Given the description of an element on the screen output the (x, y) to click on. 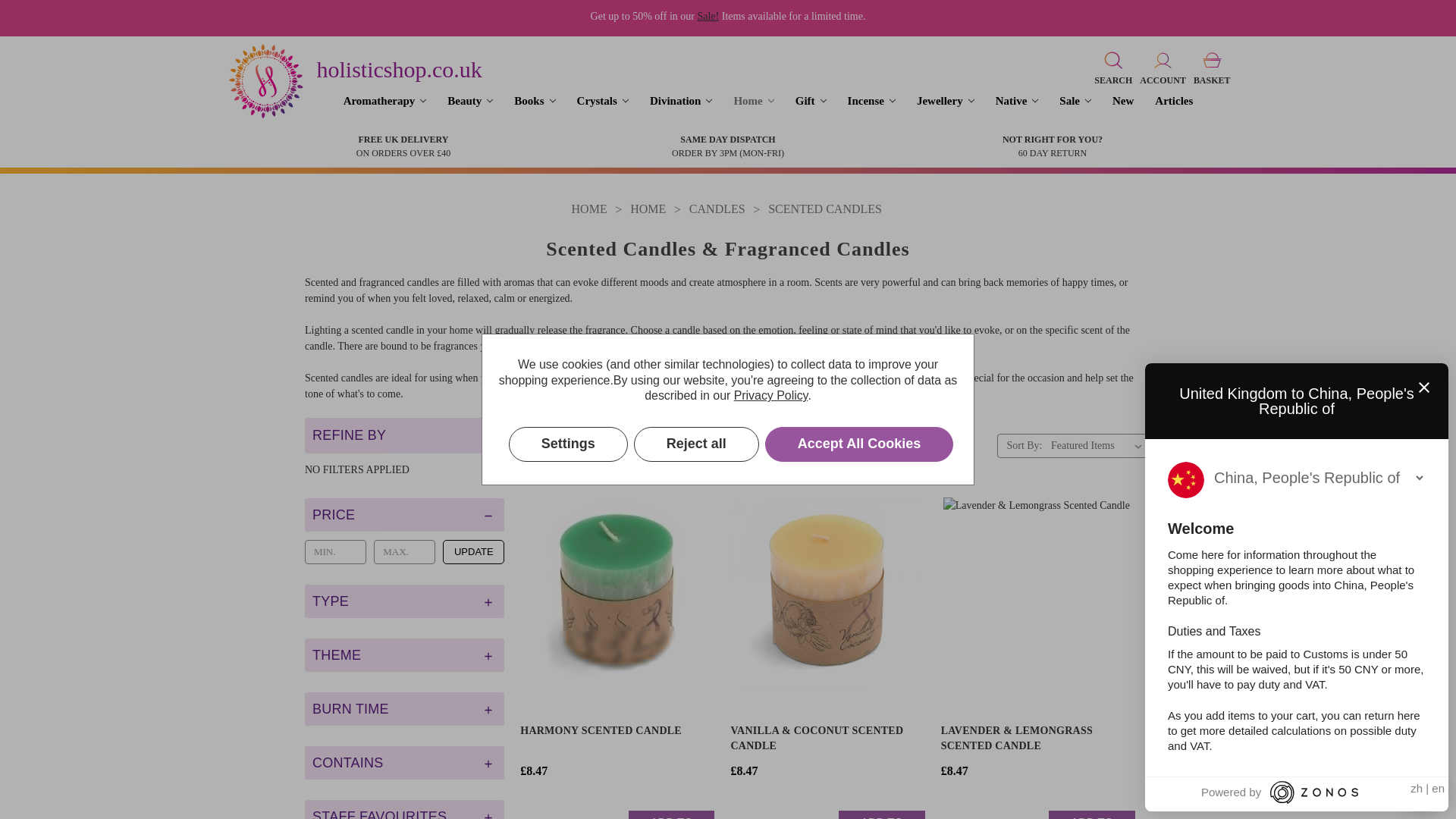
Books (534, 100)
holisticshop.co.uk (399, 69)
Beauty (469, 100)
Holistic Shop (264, 80)
Aromatherapy (385, 100)
SEARCH (1112, 66)
Harmony Scented Candle (616, 592)
Customer reviews powered by Trustpilot (1035, 708)
ACCOUNT (1162, 66)
Customer reviews powered by Trustpilot (614, 708)
